Given the description of an element on the screen output the (x, y) to click on. 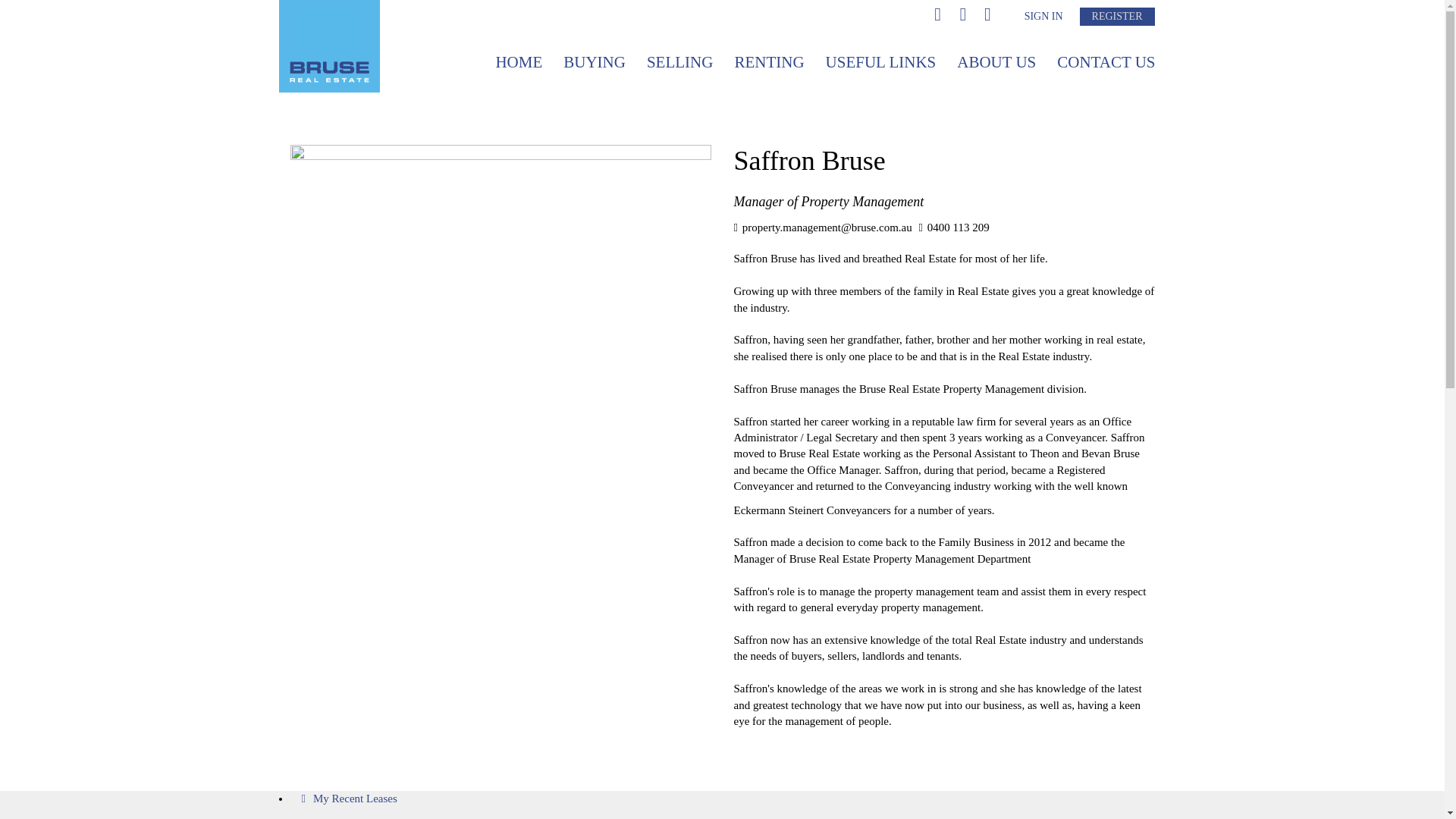
REGISTER (1117, 16)
SIGN IN (1042, 16)
BUYING (594, 61)
SELLING (679, 61)
0400 113 209 (954, 227)
HOME (518, 61)
RENTING (768, 61)
My Recent Leases (349, 798)
CONTACT US (1106, 61)
ABOUT US (996, 61)
USEFUL LINKS (881, 61)
